Given the description of an element on the screen output the (x, y) to click on. 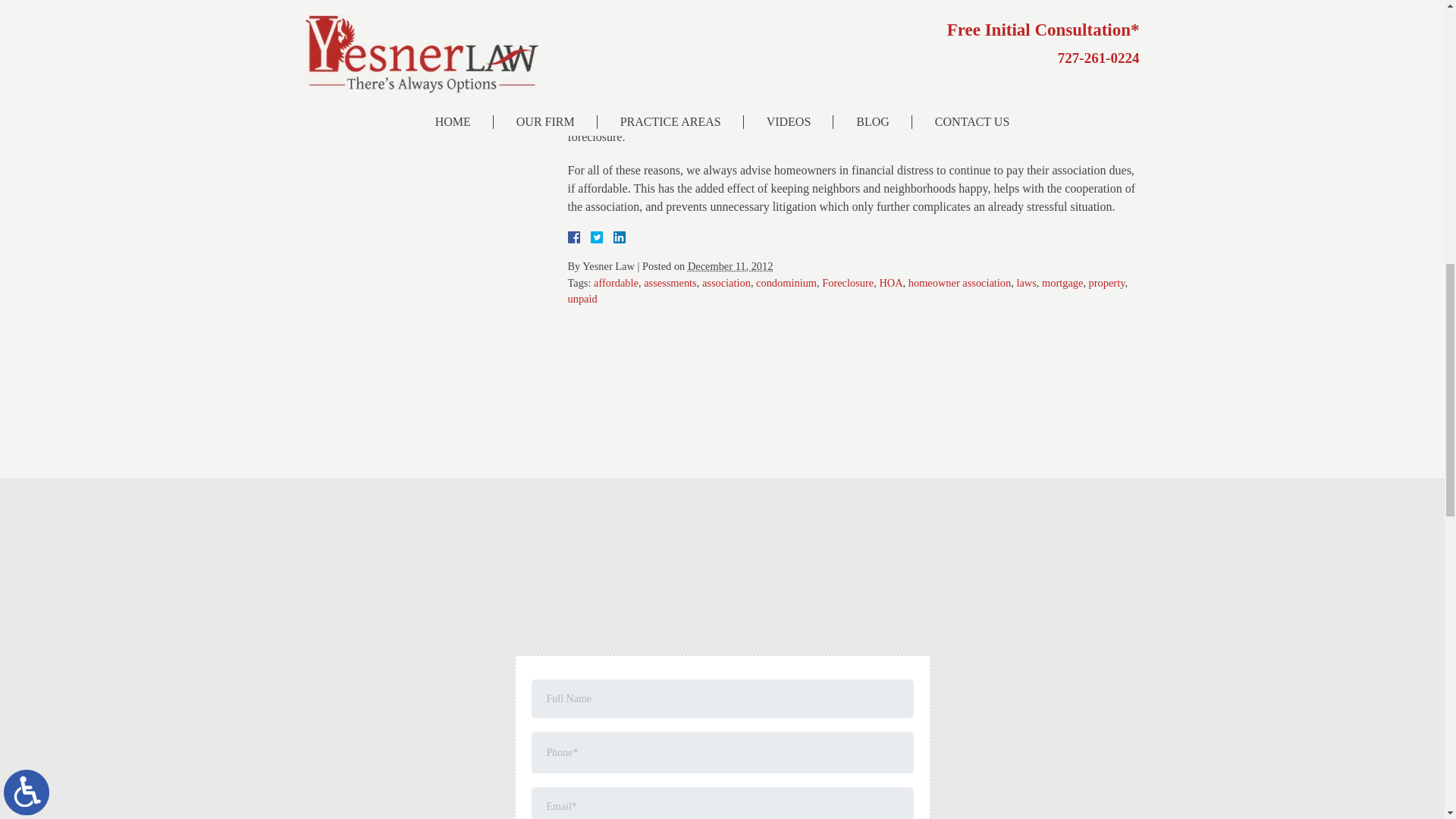
condominium (785, 282)
Foreclosure (847, 282)
assessments (670, 282)
Twitter (602, 236)
affordable (616, 282)
association (726, 282)
2012-12-11T13:23:57-0800 (730, 265)
LinkedIn (612, 236)
Facebook (591, 236)
